Given the description of an element on the screen output the (x, y) to click on. 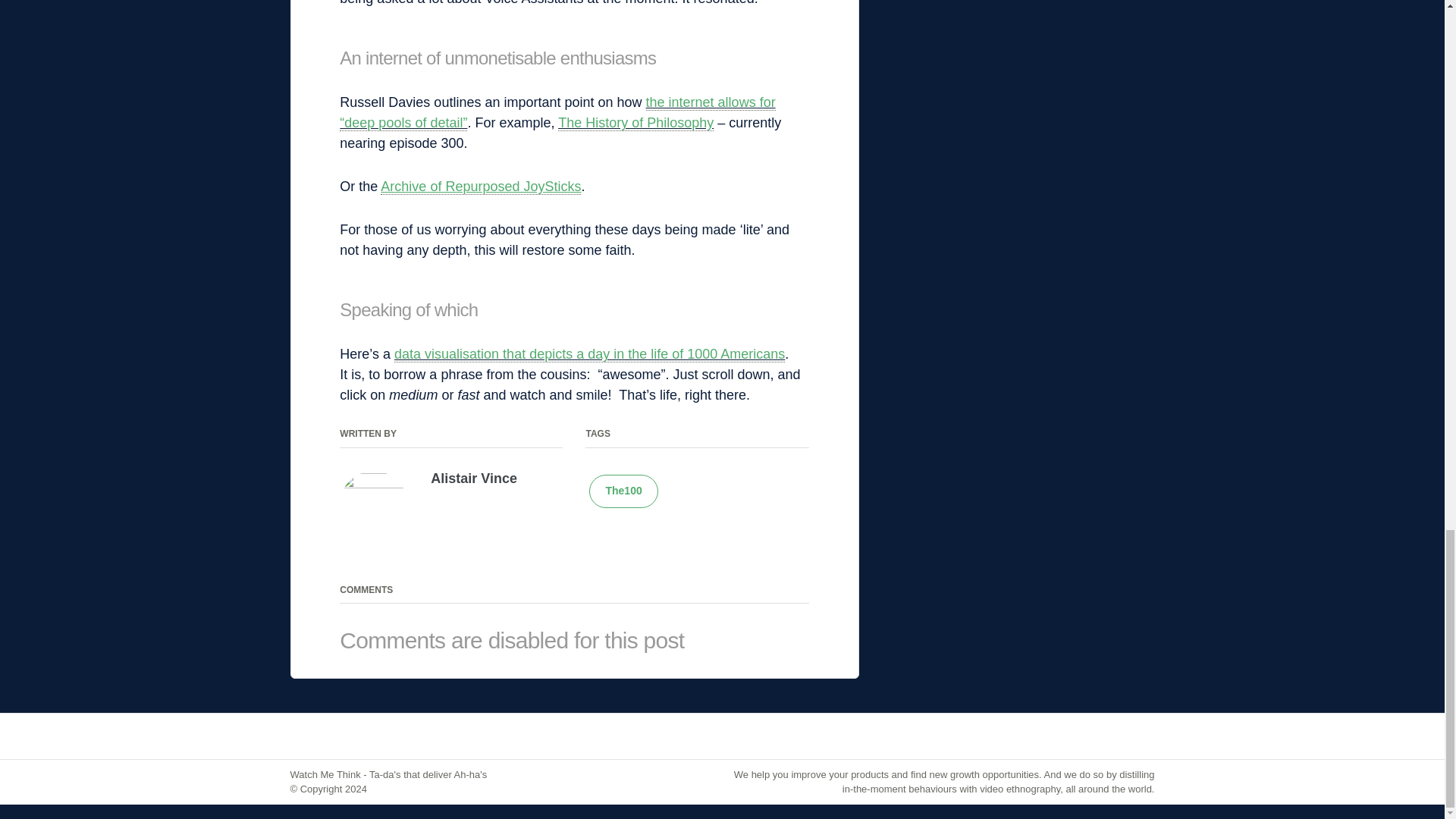
The History of Philosophy (635, 123)
The100 (623, 491)
Alistair Vince (473, 478)
Archive of Repurposed JoySticks (480, 186)
